Given the description of an element on the screen output the (x, y) to click on. 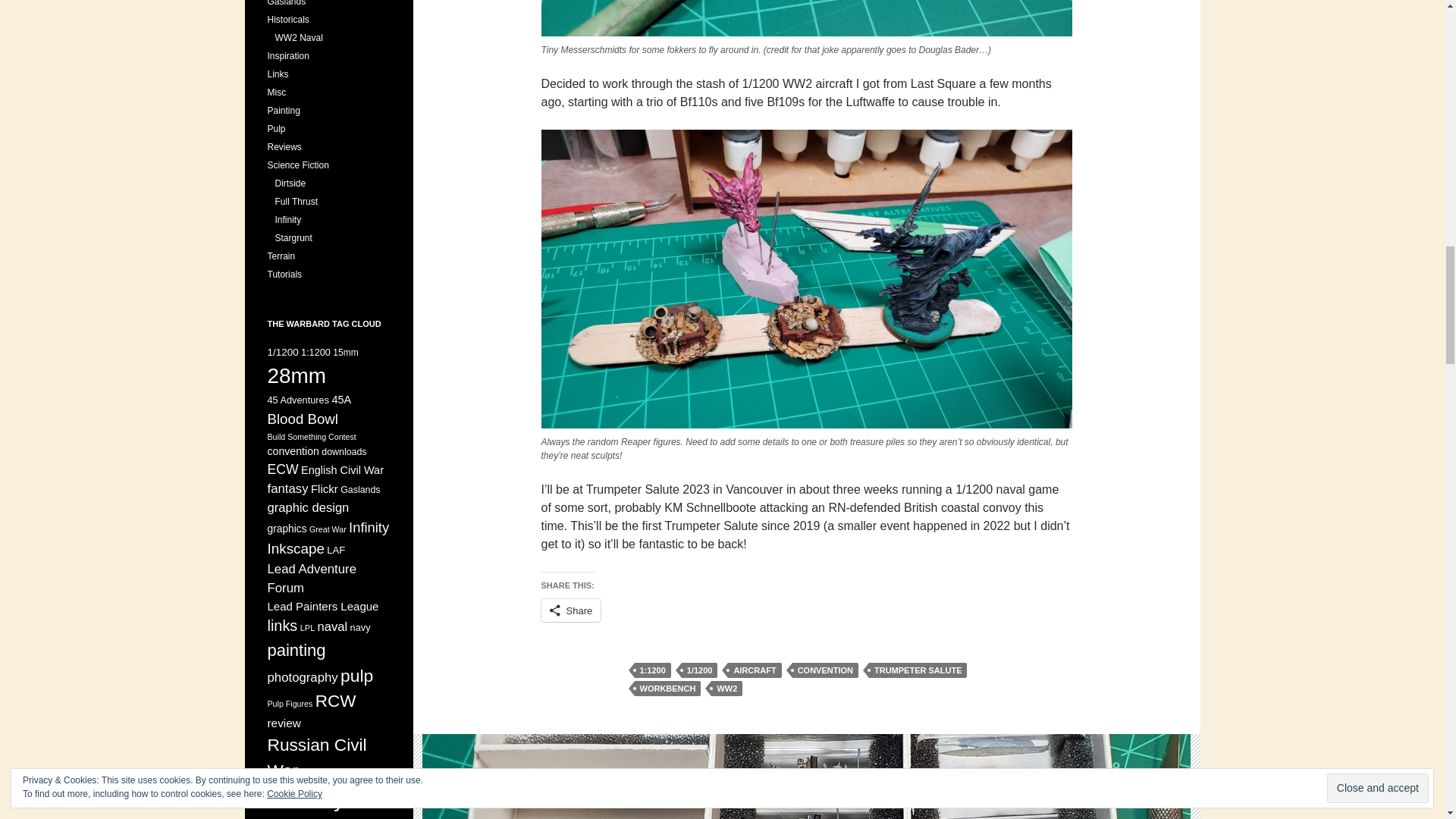
Share (571, 609)
